Given the description of an element on the screen output the (x, y) to click on. 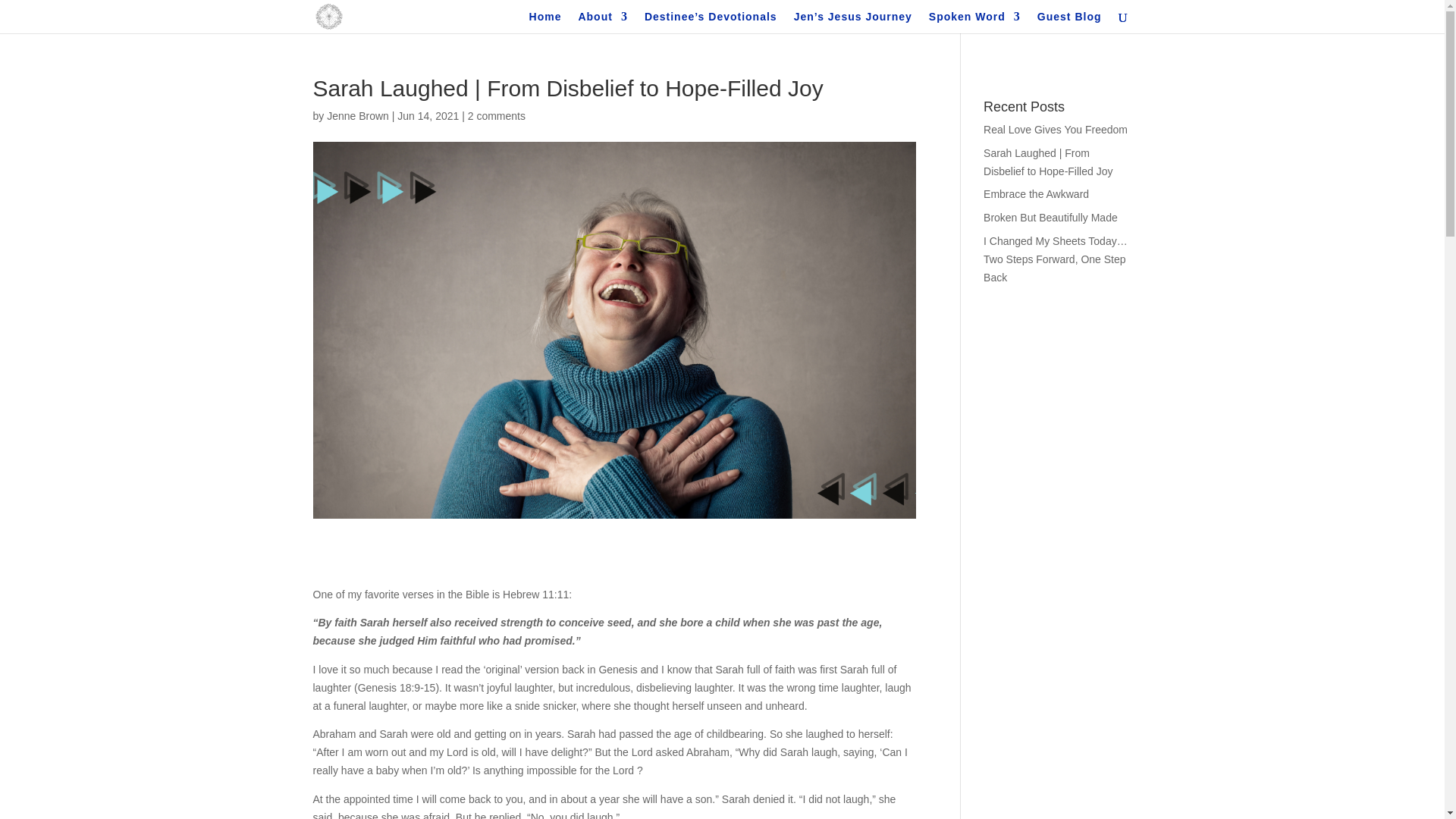
Jenne Brown (357, 115)
Spoken Word (974, 22)
Home (545, 22)
2 comments (496, 115)
About (602, 22)
Embrace the Awkward (1036, 193)
Posts by Jenne Brown (357, 115)
Real Love Gives You Freedom (1055, 129)
Broken But Beautifully Made (1051, 217)
Guest Blog (1069, 22)
